Given the description of an element on the screen output the (x, y) to click on. 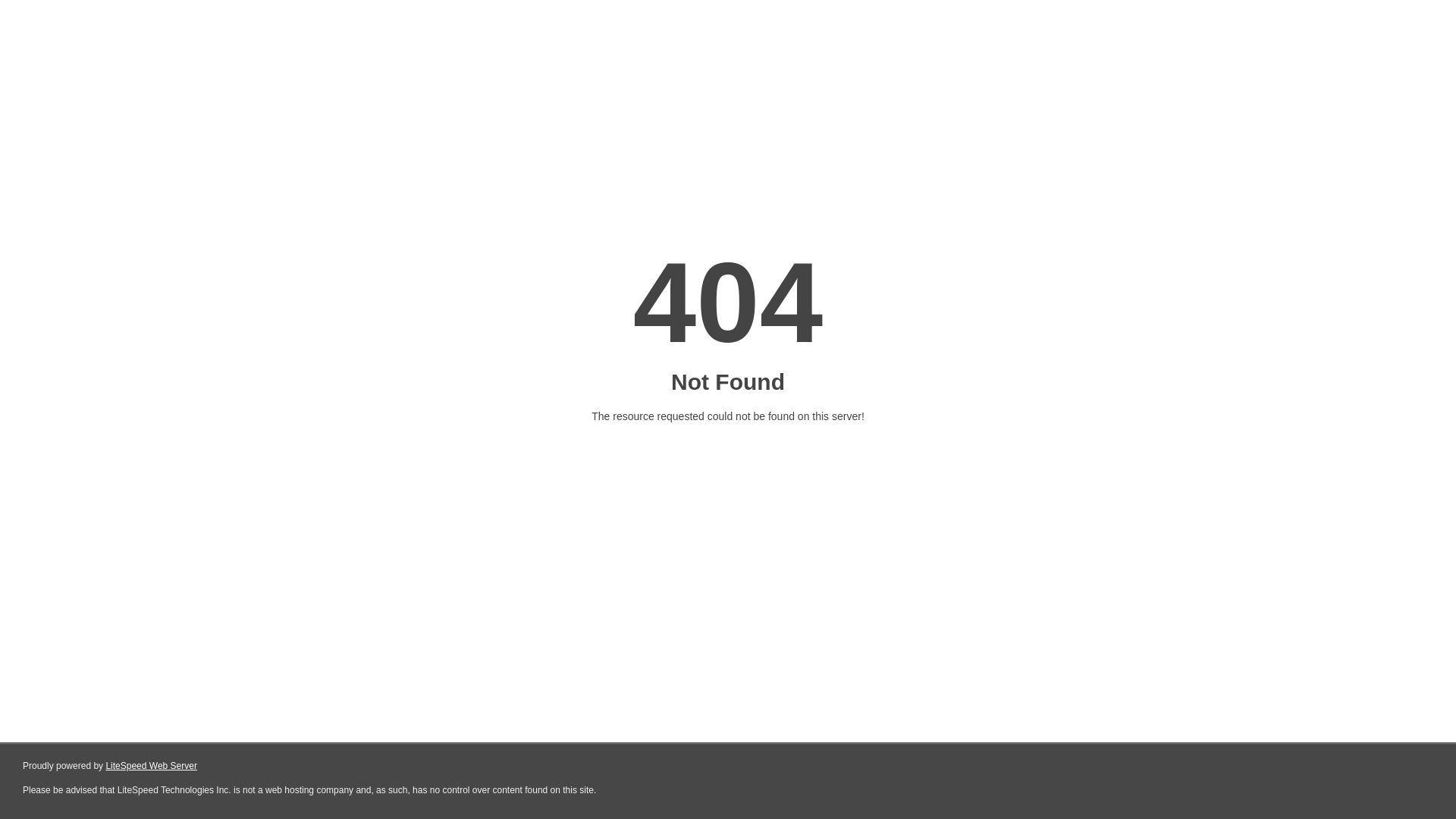
LiteSpeed Web Server Element type: text (151, 765)
